Given the description of an element on the screen output the (x, y) to click on. 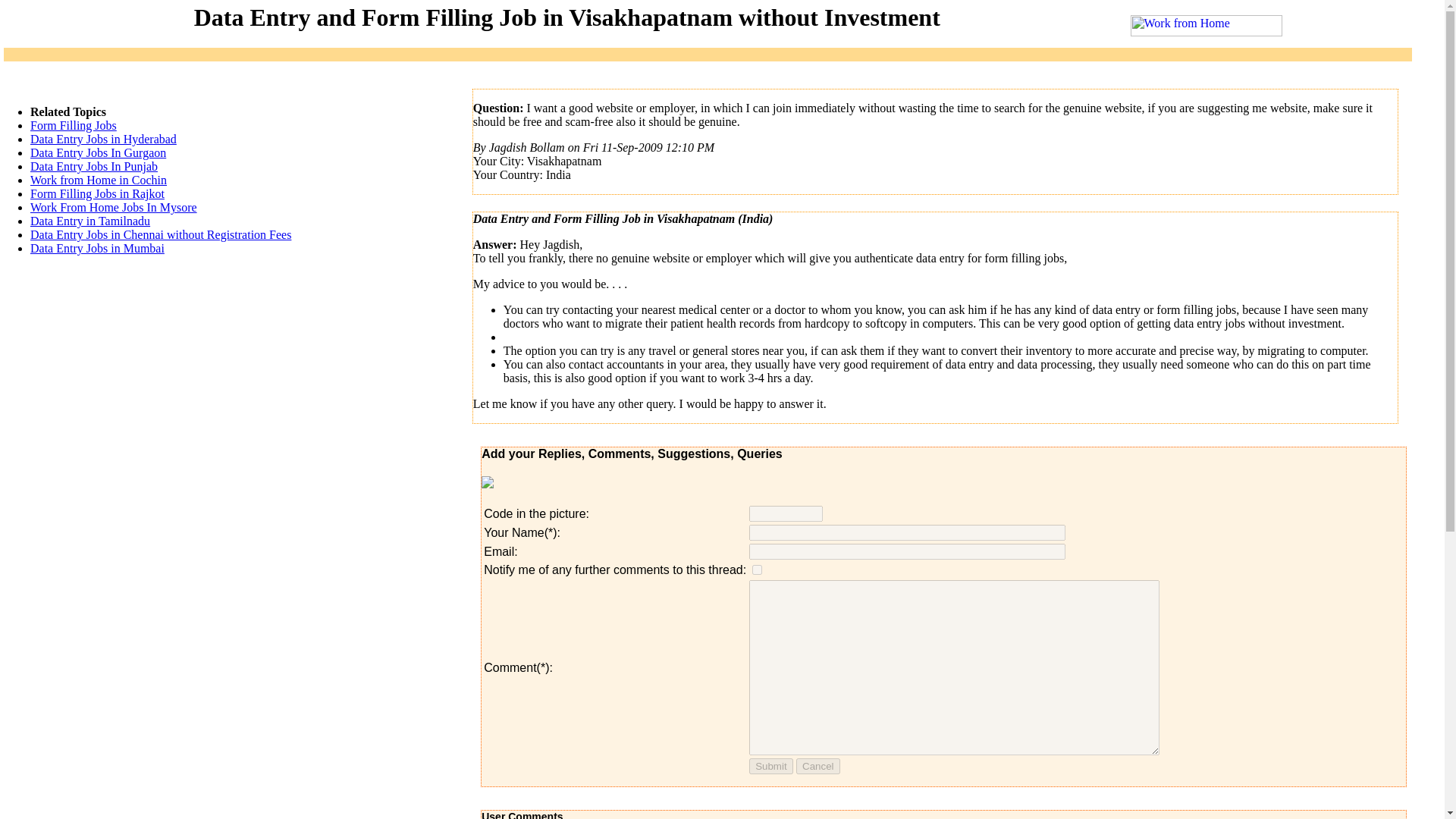
Data Entry Jobs in Mumbai (97, 247)
Form Filling Jobs in Rajkot (97, 193)
Data Entry in Tamilnadu (89, 220)
Work From Home Jobs In Mysore (113, 206)
Form Filling Jobs (73, 124)
Data Entry Jobs In Punjab (93, 165)
1 (756, 569)
Submit (770, 765)
Data Entry Jobs in Hyderabad (103, 138)
Data Entry Jobs In Gurgaon (97, 152)
Cancel (818, 765)
Work from Home in Cochin (98, 179)
Cancel (818, 765)
Submit (770, 765)
Data Entry Jobs in Chennai without Registration Fees (160, 234)
